Given the description of an element on the screen output the (x, y) to click on. 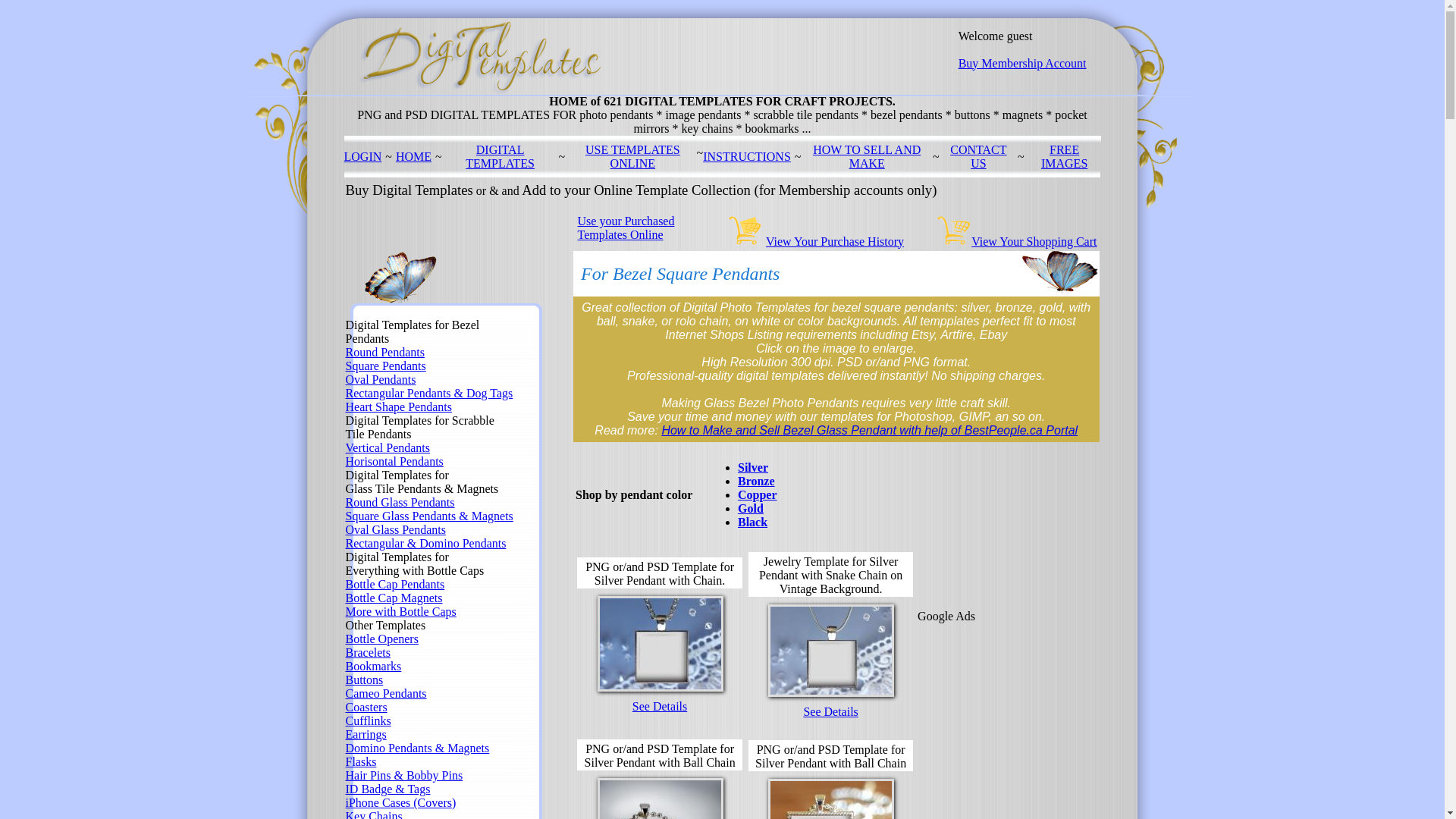
Bronze Element type: text (756, 480)
Rectangular & Domino Pendants Element type: text (425, 542)
Vertical Pendants Element type: text (387, 447)
More with Bottle Caps Element type: text (400, 611)
Bottle Cap Magnets Element type: text (393, 597)
FREE IMAGES Element type: text (1064, 156)
Heart Shape Pendants Element type: text (398, 406)
Copper Element type: text (757, 494)
Cameo Pendants Element type: text (385, 693)
Oval Glass Pendants Element type: text (395, 529)
Buttons Element type: text (364, 679)
HOW TO SELL AND MAKE Element type: text (866, 156)
Buy Membership Account Element type: text (1022, 69)
Hair Pins & Bobby Pins Element type: text (404, 774)
Round Pendants Element type: text (384, 351)
iPhone Cases (Covers) Element type: text (400, 802)
DIGITAL TEMPLATES Element type: text (499, 156)
Bookmarks Element type: text (373, 665)
Bottle Cap Pendants Element type: text (395, 583)
Cufflinks Element type: text (368, 720)
Gold Element type: text (750, 508)
Silver Element type: text (752, 467)
Earrings Element type: text (365, 734)
Oval Pendants Element type: text (380, 379)
Horisontal Pendants Element type: text (394, 461)
Black Element type: text (752, 521)
Use your Purchased
Templates Online Element type: text (625, 227)
Coasters Element type: text (366, 706)
Square Glass Pendants & Magnets Element type: text (429, 515)
Domino Pendants & Magnets Element type: text (417, 747)
View Your Shopping Cart Element type: text (1033, 241)
Rectangular Pendants & Dog Tags Element type: text (429, 392)
See Details Element type: text (830, 711)
LOGIN Element type: text (363, 156)
Bracelets Element type: text (368, 652)
Round Glass Pendants Element type: text (400, 501)
See Details Element type: text (659, 705)
USE TEMPLATES ONLINE Element type: text (632, 156)
View Your Purchase History Element type: text (834, 241)
CONTACT US Element type: text (978, 156)
Bottle Openers Element type: text (381, 638)
INSTRUCTIONS Element type: text (746, 156)
ID Badge & Tags Element type: text (387, 788)
Flasks Element type: text (360, 761)
Square Pendants Element type: text (385, 365)
HOME Element type: text (413, 156)
